Given the description of an element on the screen output the (x, y) to click on. 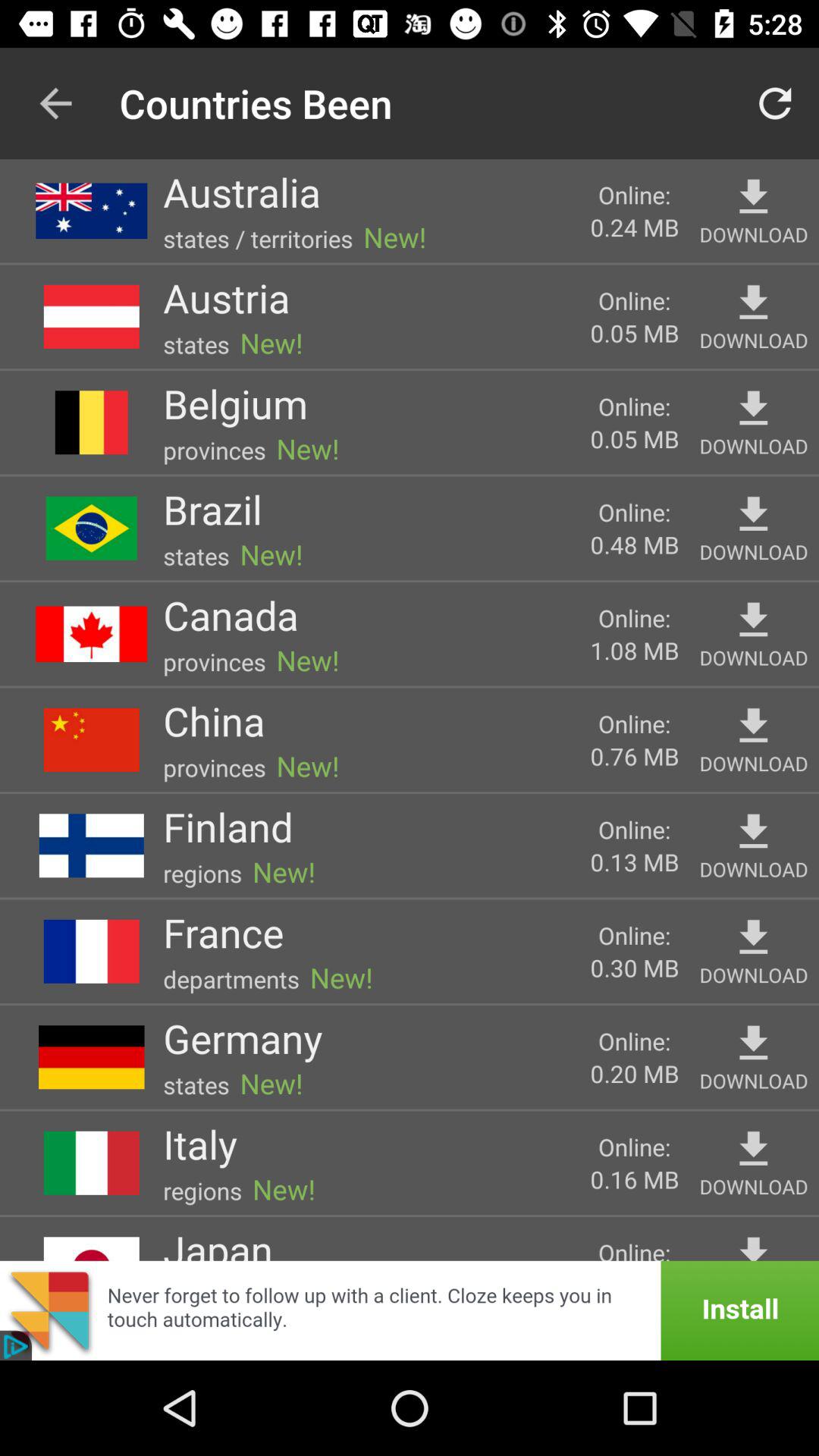
click icon to the left of new! (241, 191)
